Given the description of an element on the screen output the (x, y) to click on. 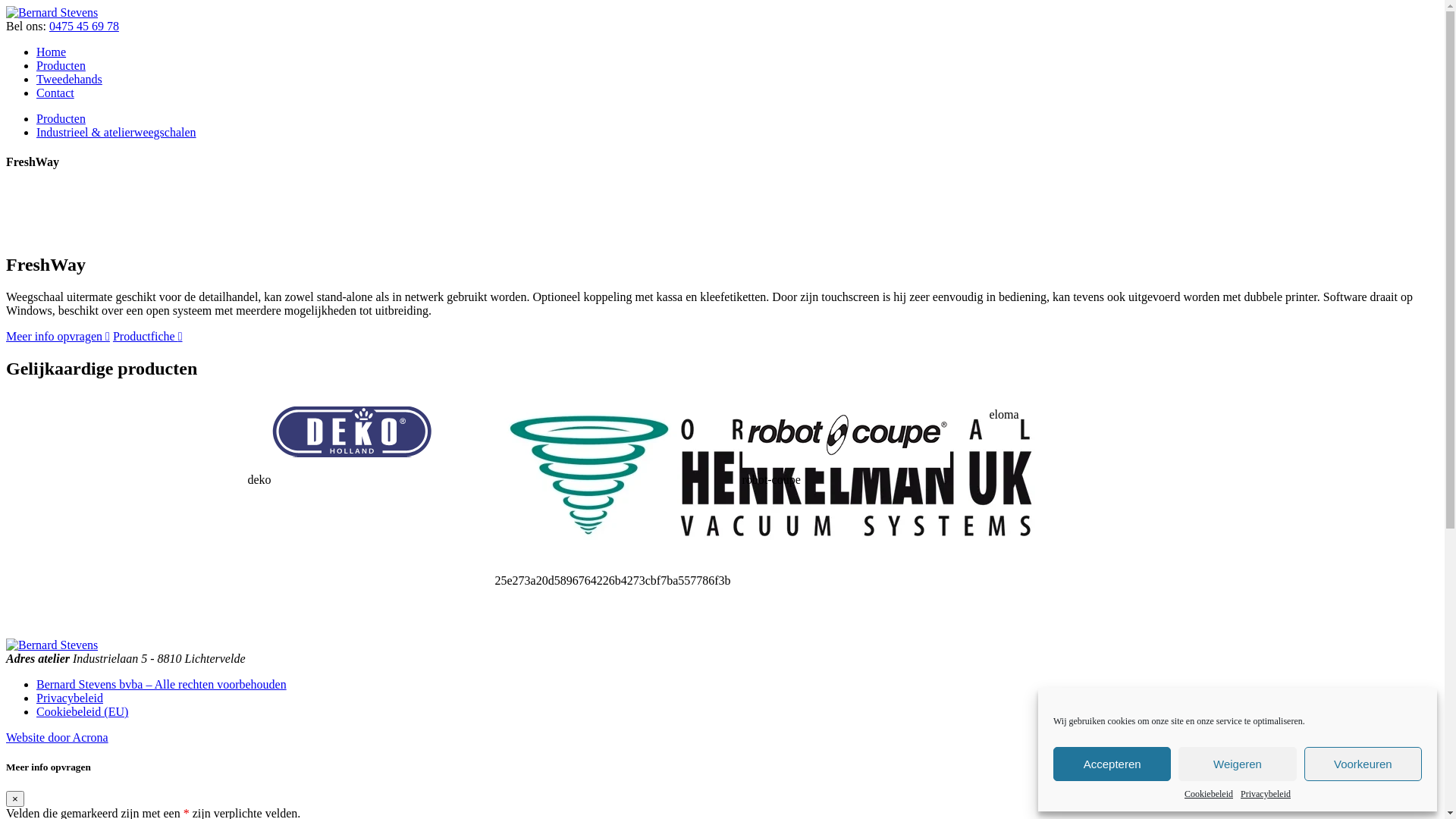
Bernard Stevens Element type: hover (51, 12)
0475 45 69 78 Element type: text (84, 25)
Accepteren Element type: text (1111, 763)
Website door Acrona Element type: text (57, 737)
Privacybeleid Element type: text (1265, 794)
Producten Element type: text (60, 118)
Weigeren Element type: text (1236, 763)
Cookiebeleid Element type: text (1208, 794)
Voorkeuren Element type: text (1362, 763)
Home Element type: text (50, 51)
Contact Element type: text (55, 92)
Productfiche Element type: text (147, 335)
Producten Element type: text (60, 65)
Meer info opvragen Element type: text (57, 335)
Tweedehands Element type: text (69, 78)
Privacybeleid Element type: text (69, 697)
Industrieel & atelierweegschalen Element type: text (116, 131)
Cookiebeleid (EU) Element type: text (82, 711)
